Given the description of an element on the screen output the (x, y) to click on. 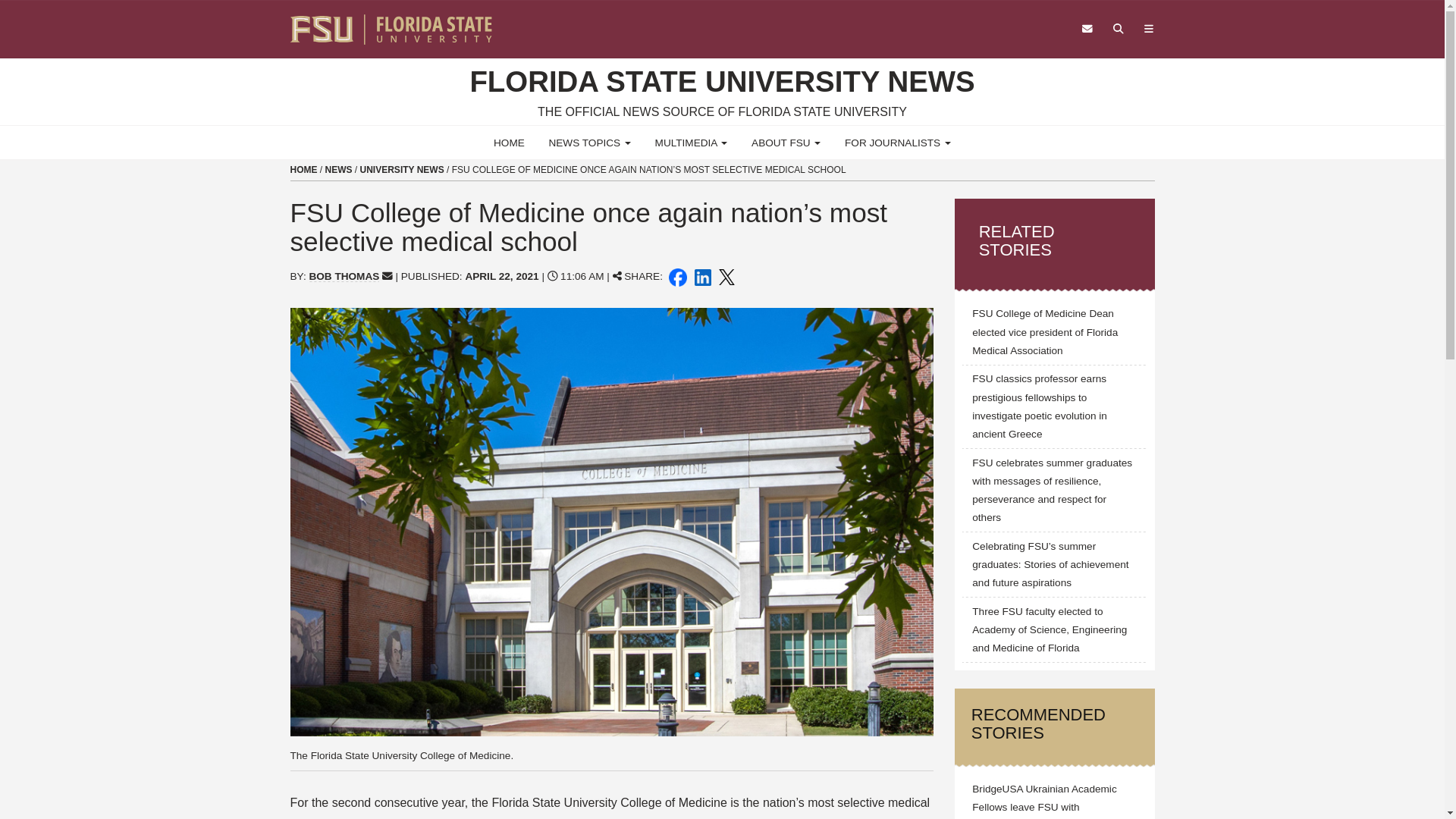
EMAIL (387, 275)
FSU Webmail (1087, 28)
Navigation (1148, 28)
